Given the description of an element on the screen output the (x, y) to click on. 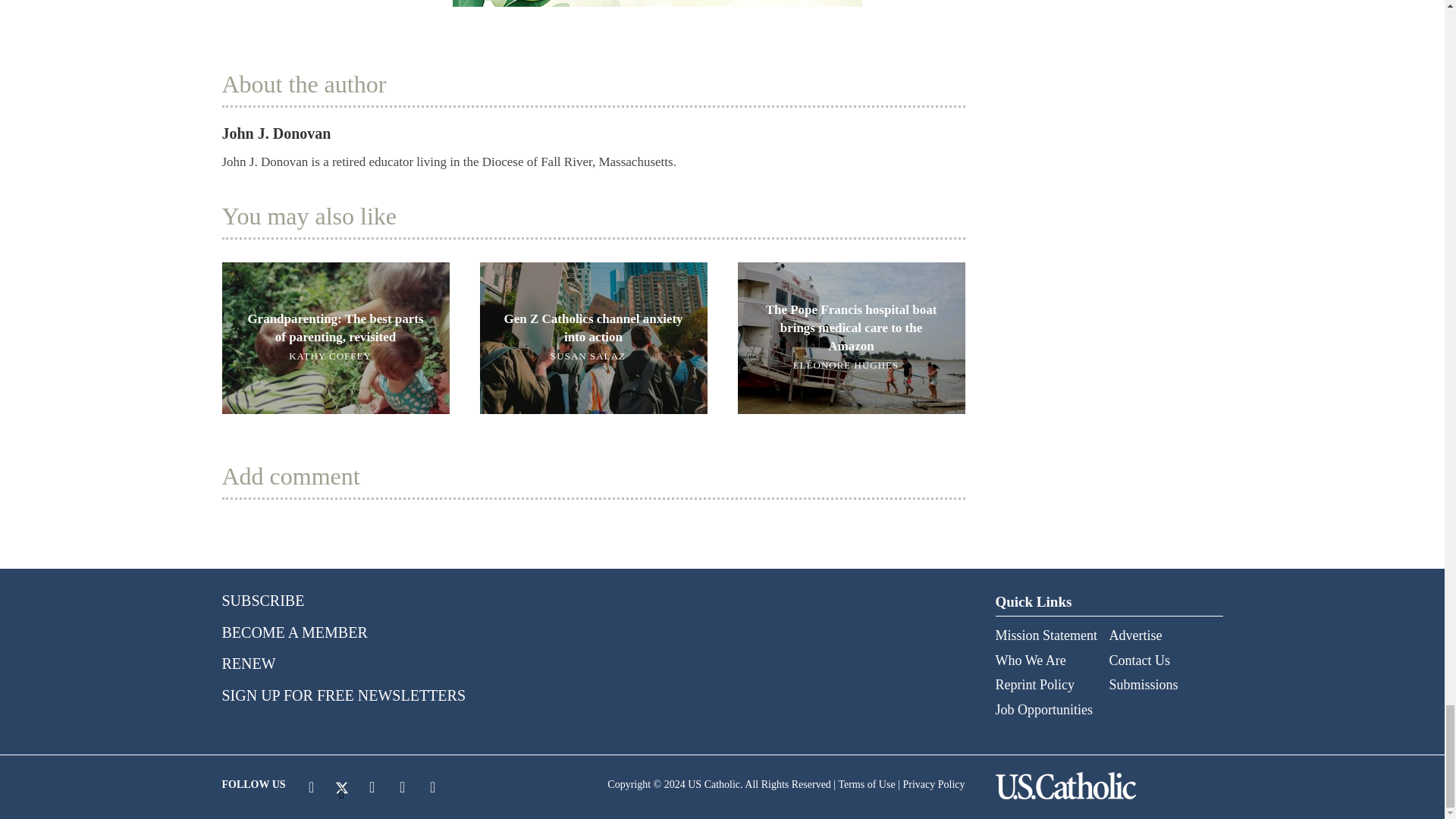
Grandparenting: The best parts of parenting, revisited (334, 336)
Gen Z Catholics channel anxiety into action (592, 336)
